Given the description of an element on the screen output the (x, y) to click on. 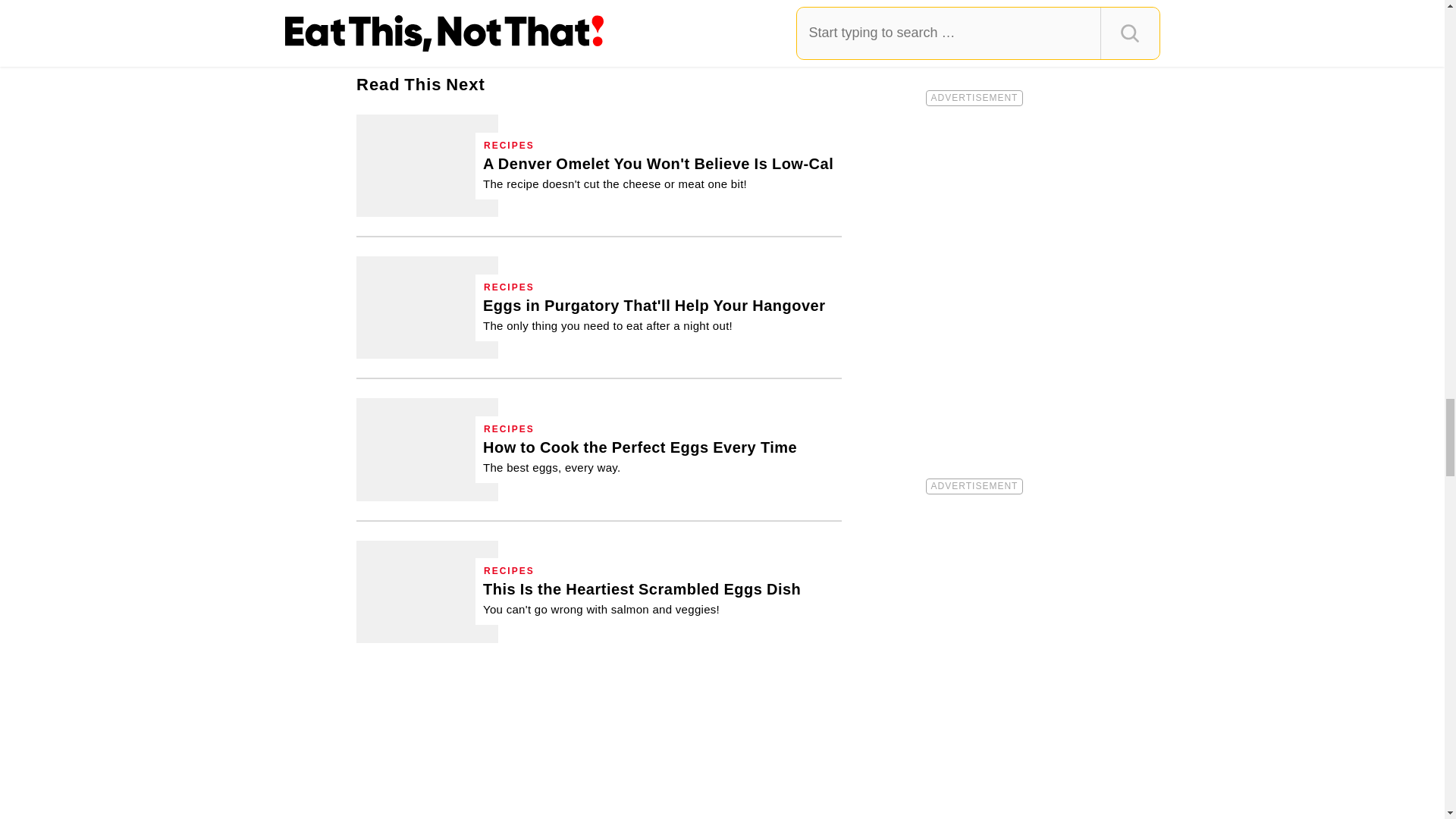
A Healthier Denver Omelet Recipe (426, 165)
A Healthier Denver Omelet Recipe (657, 172)
How to Cook the Perfect Eggs for Every Cooking Method (426, 449)
Eggs in Purgatory Recipe (426, 307)
How to Cook the Perfect Eggs for Every Cooking Method (639, 456)
Eggs in Purgatory Recipe (654, 314)
